Given the description of an element on the screen output the (x, y) to click on. 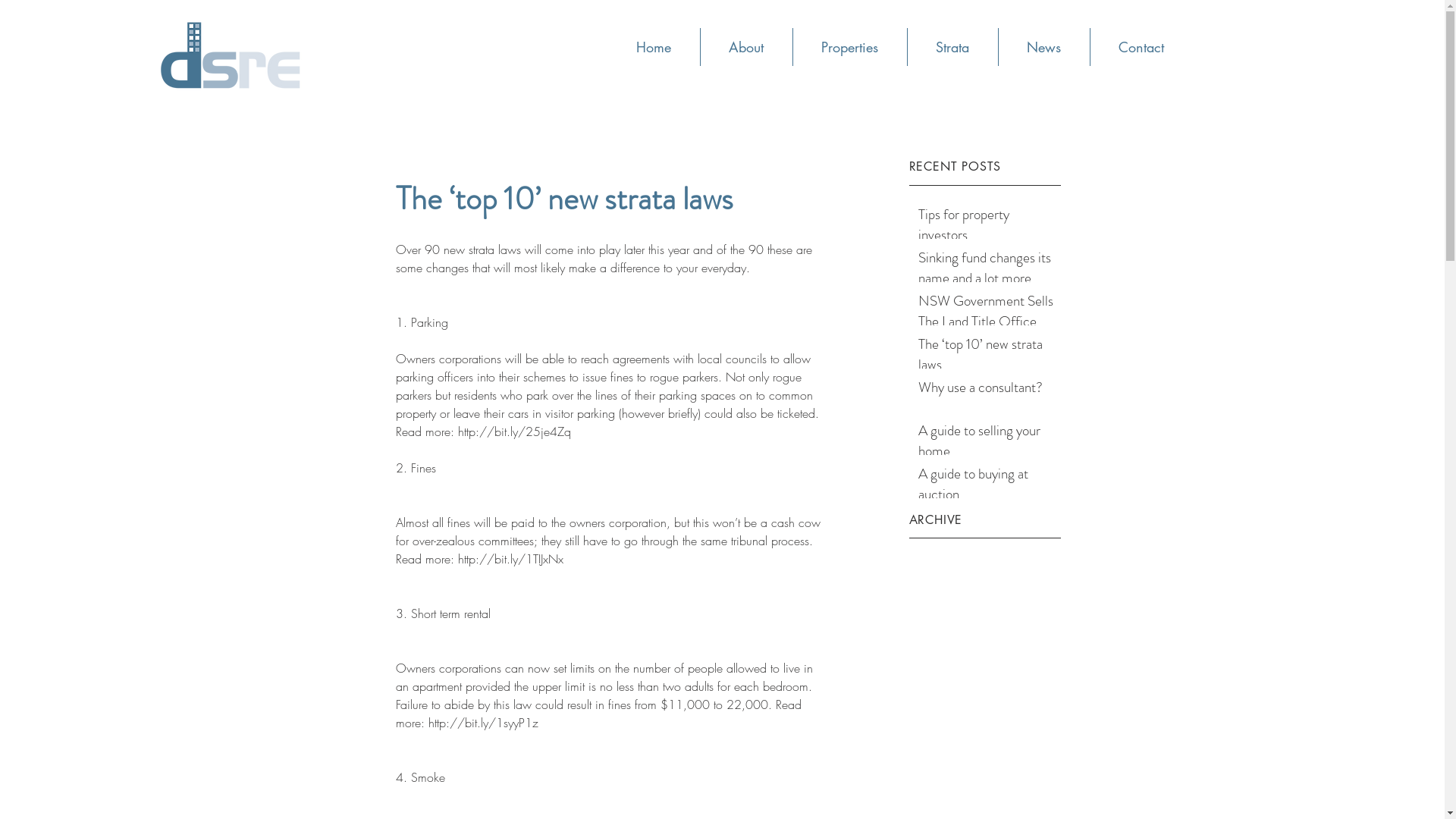
Tips for property investors Element type: text (986, 227)
Strata Element type: text (951, 46)
Home Element type: text (653, 46)
About Element type: text (745, 46)
Properties Element type: text (848, 46)
A guide to buying at auction Element type: text (986, 487)
News Element type: text (1043, 46)
DSRE_logo_test1.png Element type: hover (228, 53)
Why use a consultant? Element type: text (986, 390)
Contact Element type: text (1139, 46)
Sinking fund changes its name and a lot more Element type: text (986, 270)
A guide to selling your home Element type: text (986, 443)
NSW Government Sells The Land Title Office Element type: text (986, 314)
